Given the description of an element on the screen output the (x, y) to click on. 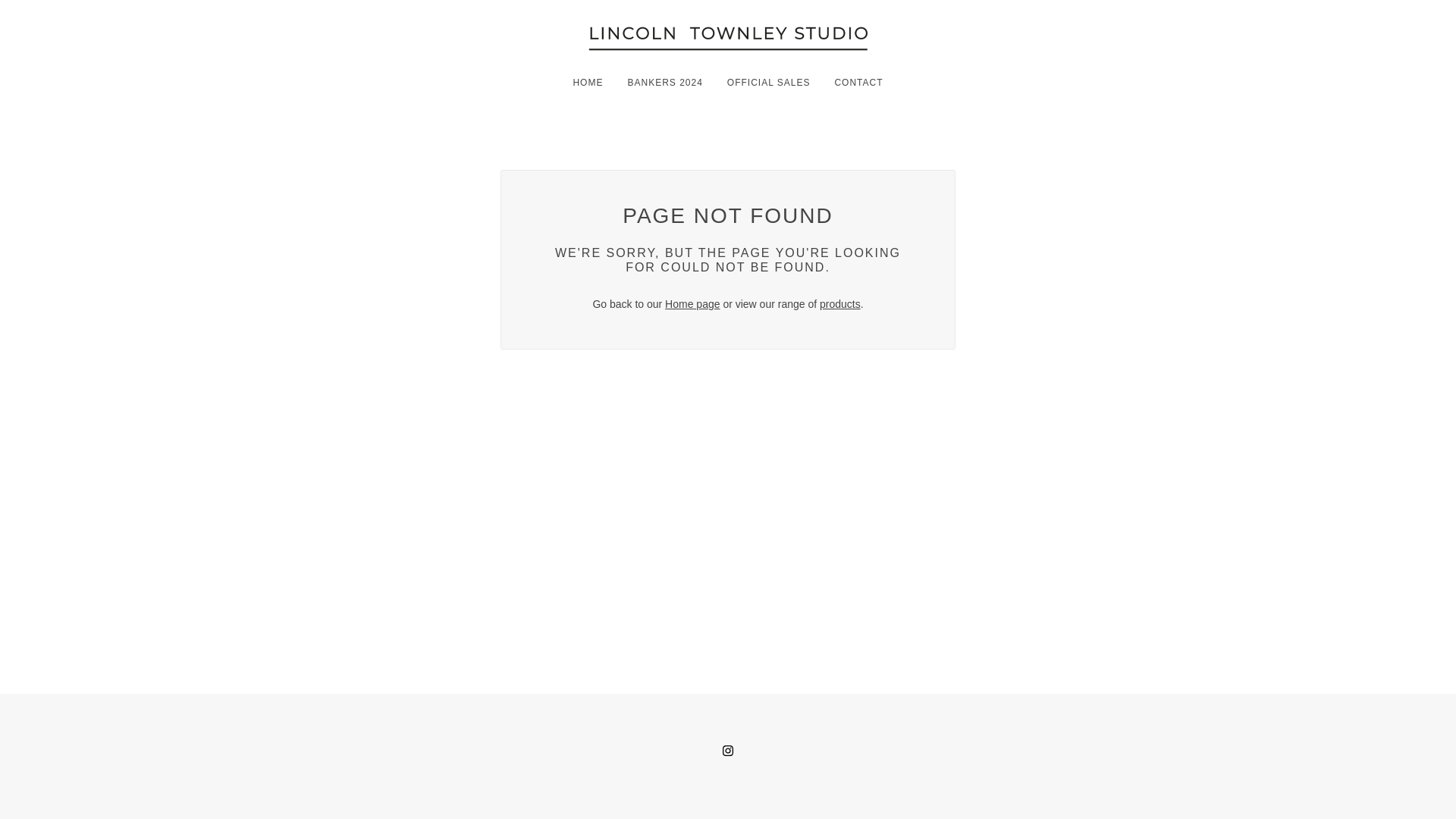
BANKERS 2024 (664, 82)
OFFICIAL SALES (768, 82)
Home page (692, 304)
products (839, 304)
Lincoln Townley Studio (727, 37)
CONTACT (858, 82)
